Given the description of an element on the screen output the (x, y) to click on. 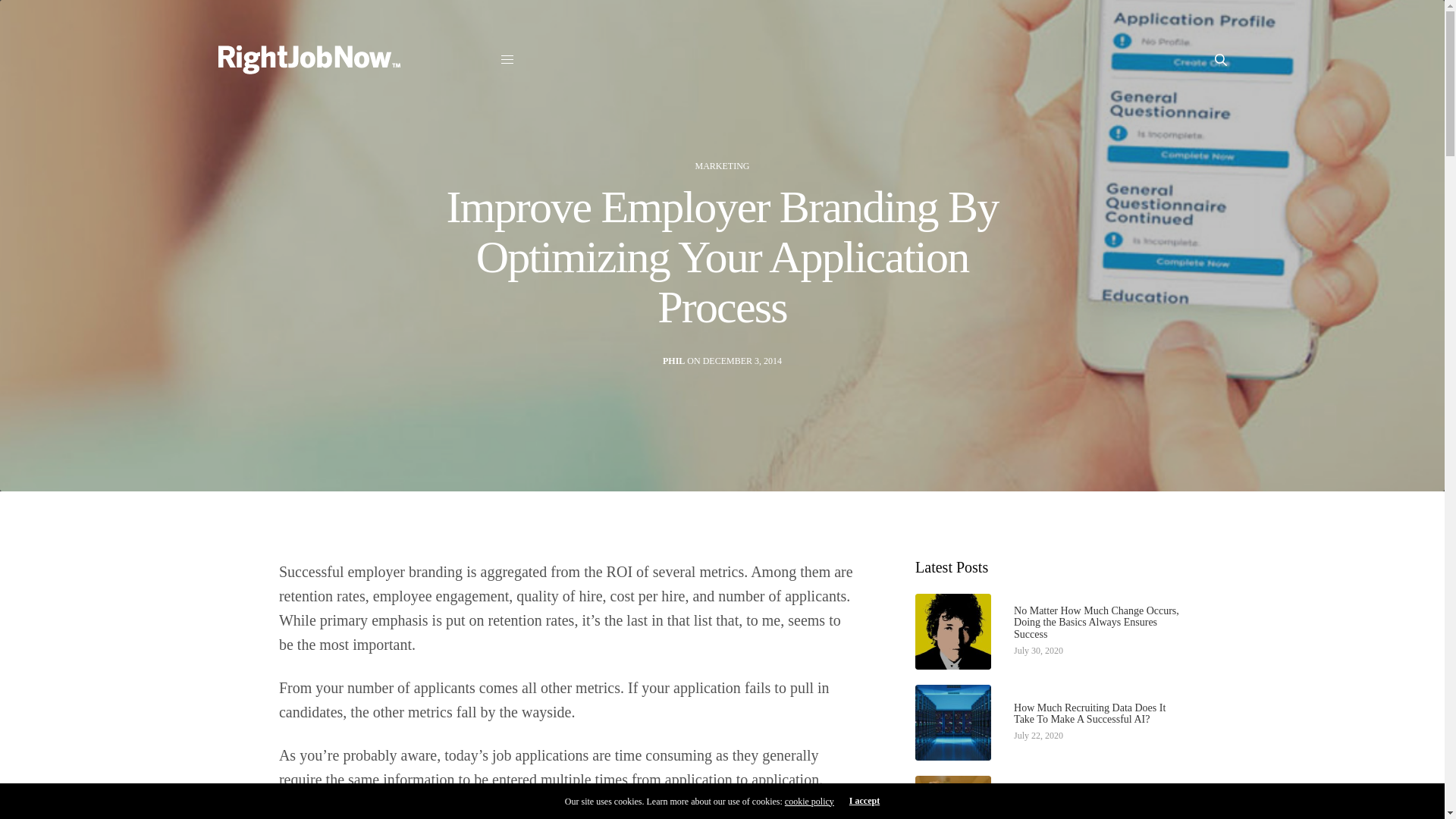
Employee Referral Programs Are Your Best Recruiting Strategy (1096, 804)
RightJobNow (309, 59)
Posts by Phil (673, 360)
Employee Referral Programs Are Your Best Recruiting Strategy (1096, 804)
MARKETING (721, 165)
PHIL (673, 360)
